Given the description of an element on the screen output the (x, y) to click on. 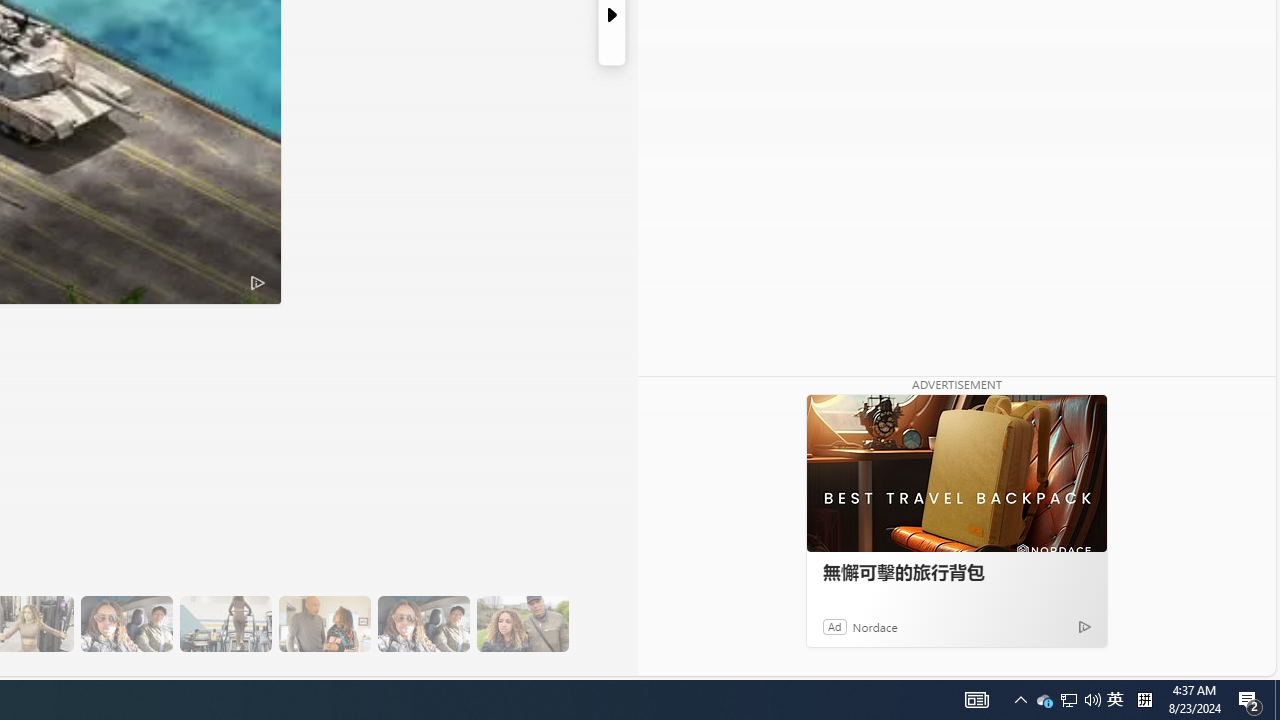
20 Overall, It Will Improve Your Health (522, 624)
16 The Couple's Program Helps with Accountability (125, 624)
